Given the description of an element on the screen output the (x, y) to click on. 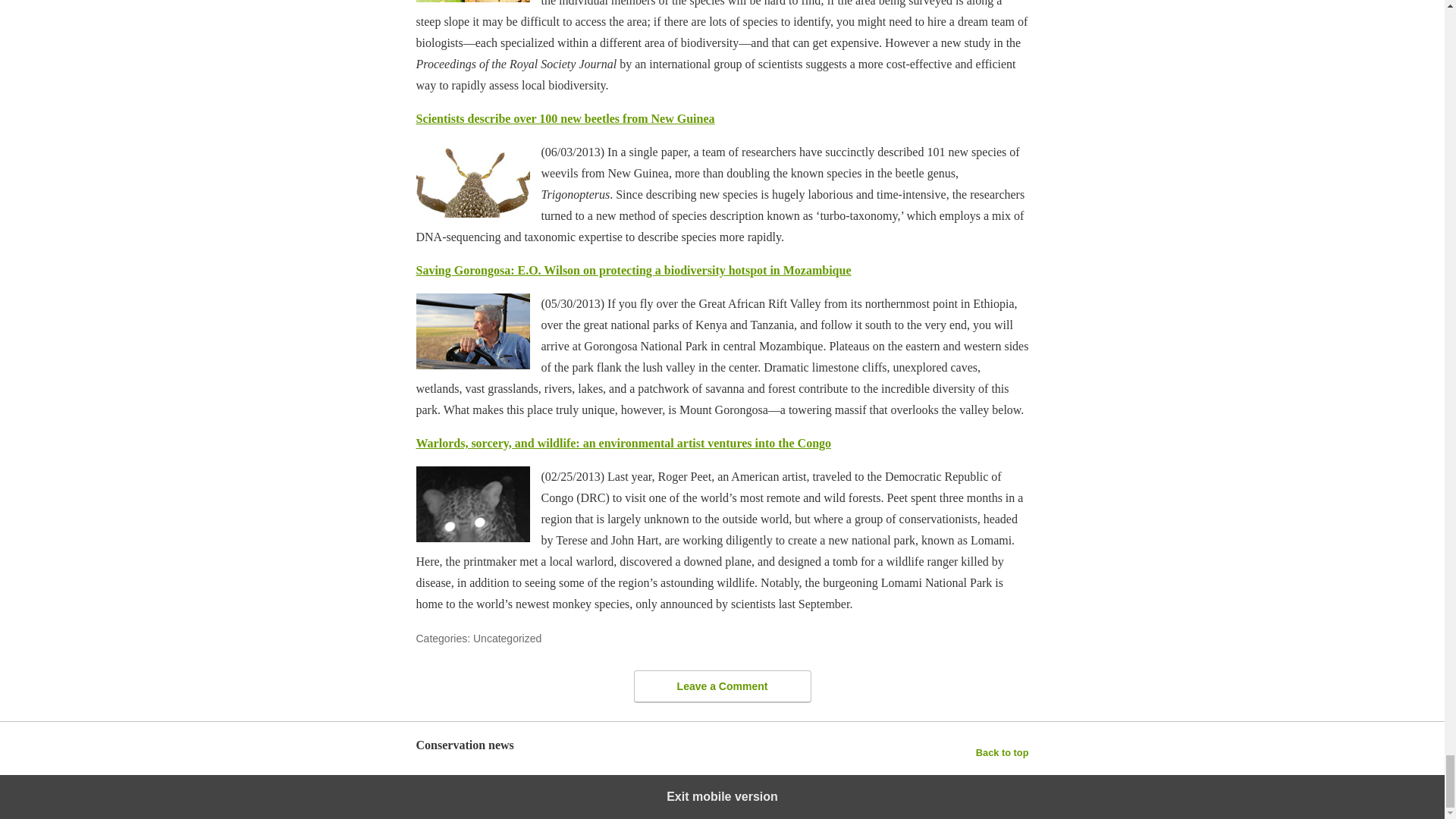
Back to top (1002, 752)
Scientists describe over 100 new beetles from New Guinea (564, 118)
Leave a Comment (721, 686)
